Given the description of an element on the screen output the (x, y) to click on. 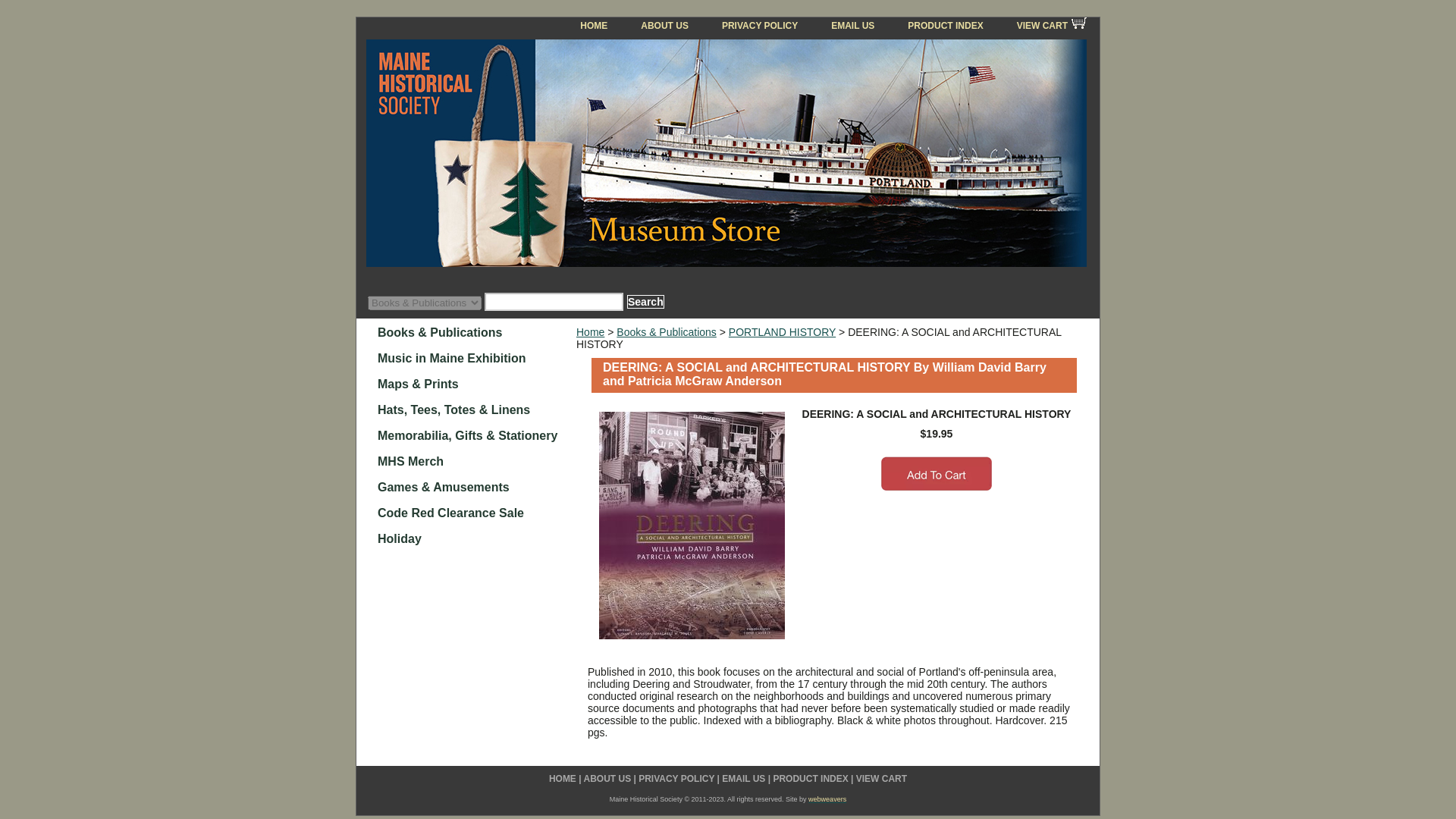
EMAIL US (743, 778)
HOME (562, 778)
PRIVACY POLICY (759, 26)
Search (645, 301)
VIEW CART (1047, 26)
Code Red Clearance Sale (474, 511)
Home (590, 331)
Add to Cart (935, 474)
webweavers (826, 799)
Code Red Clearance Sale (474, 511)
